Given the description of an element on the screen output the (x, y) to click on. 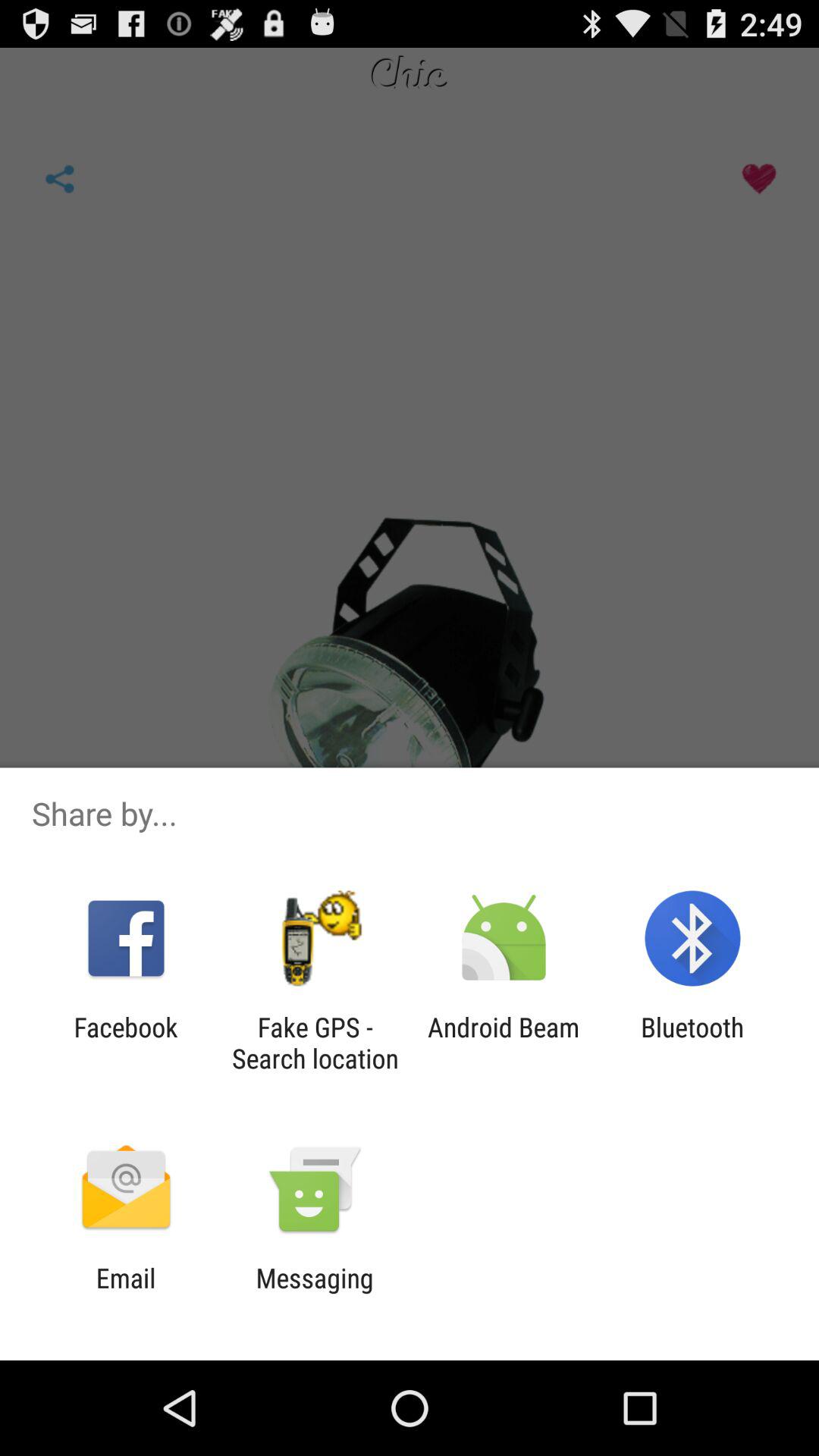
turn off icon to the left of the android beam icon (314, 1042)
